Given the description of an element on the screen output the (x, y) to click on. 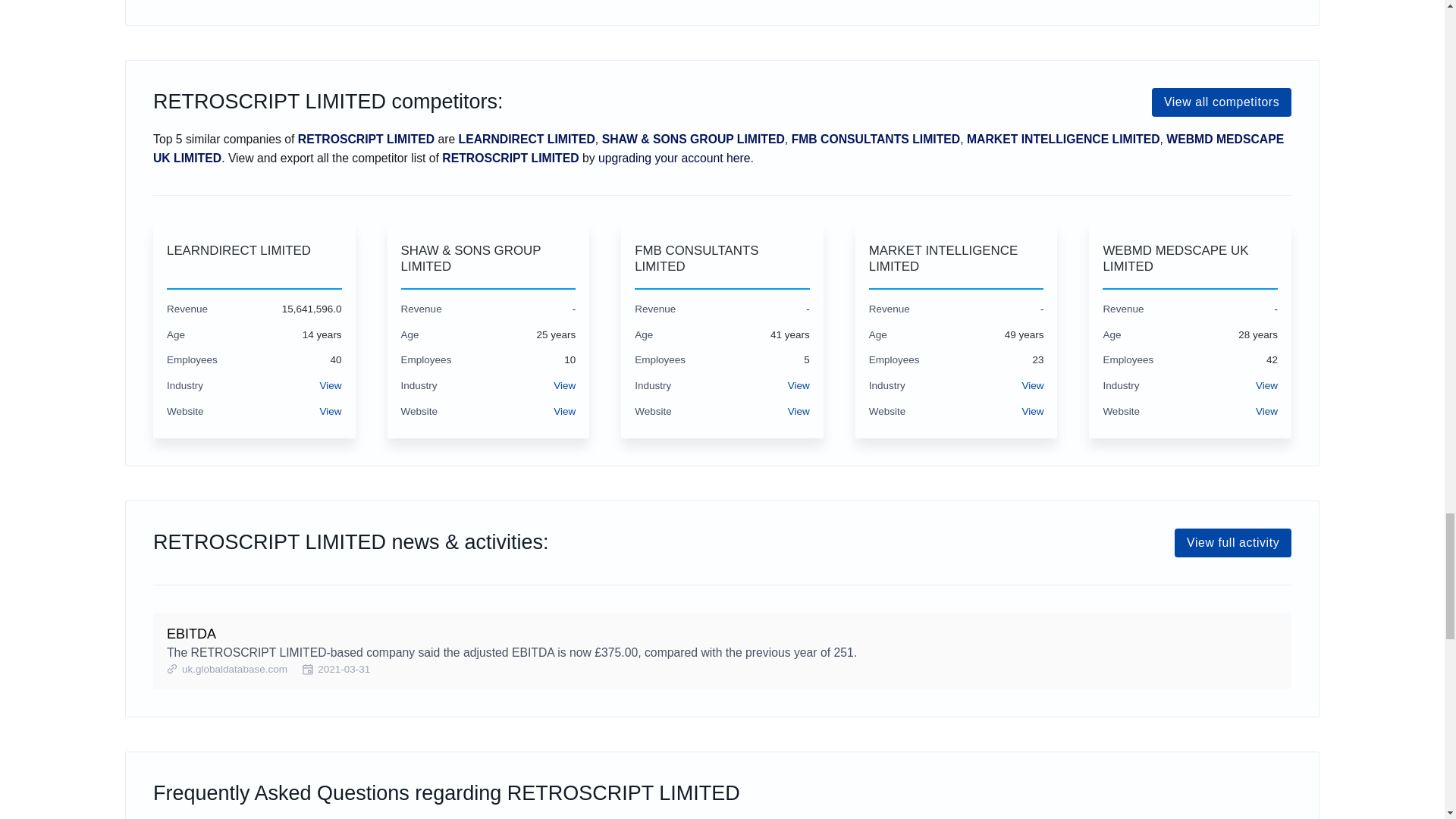
WEBMD MEDSCAPE UK LIMITED (1190, 258)
LEARNDIRECT LIMITED (254, 258)
FMB CONSULTANTS LIMITED (721, 258)
MARKET INTELLIGENCE LIMITED (956, 258)
